Given the description of an element on the screen output the (x, y) to click on. 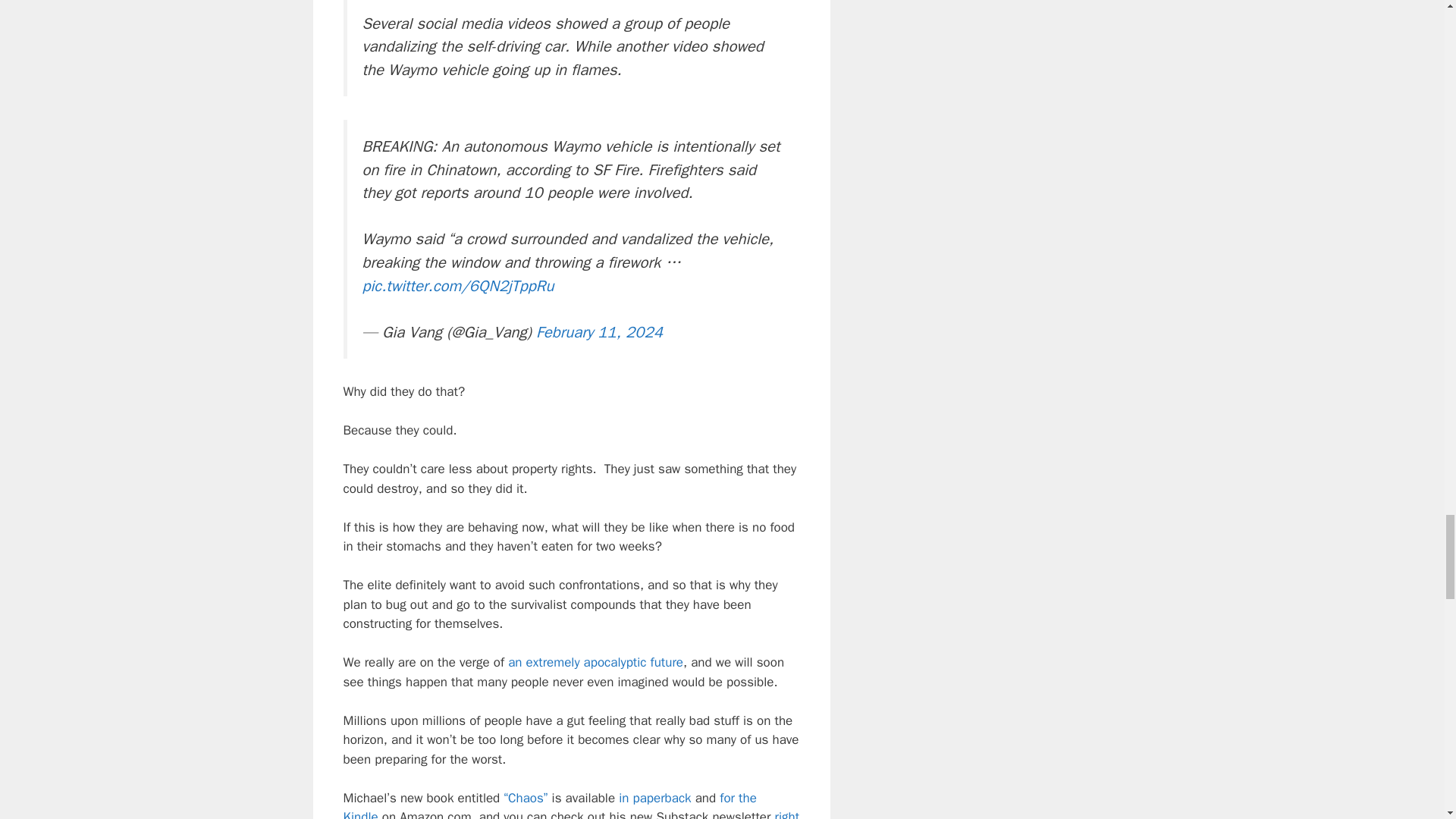
February 11, 2024 (598, 332)
right here (570, 814)
in paperback (654, 797)
an extremely apocalyptic future (595, 662)
for the Kindle (548, 804)
